Given the description of an element on the screen output the (x, y) to click on. 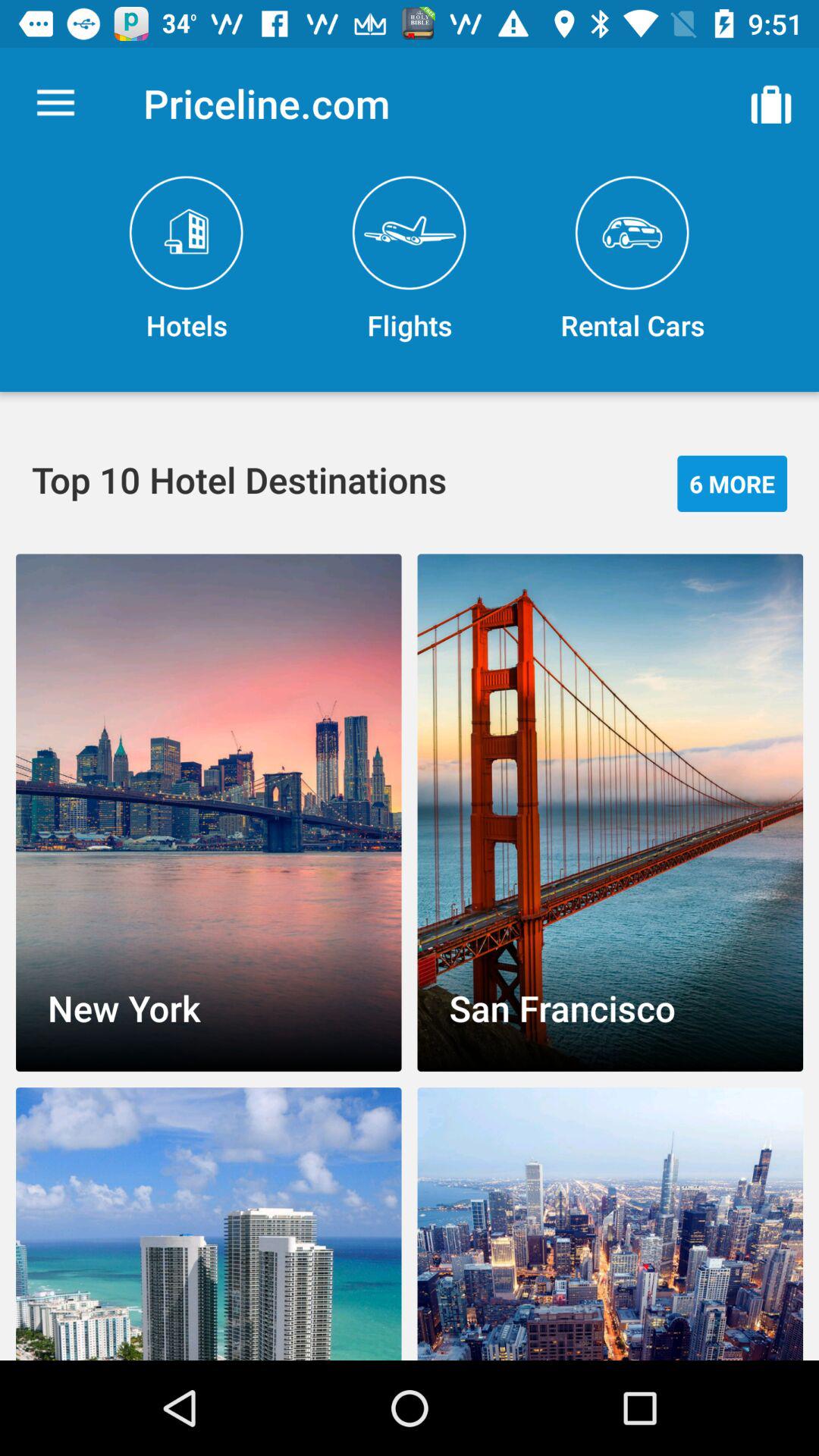
flip to rental cars icon (631, 259)
